Given the description of an element on the screen output the (x, y) to click on. 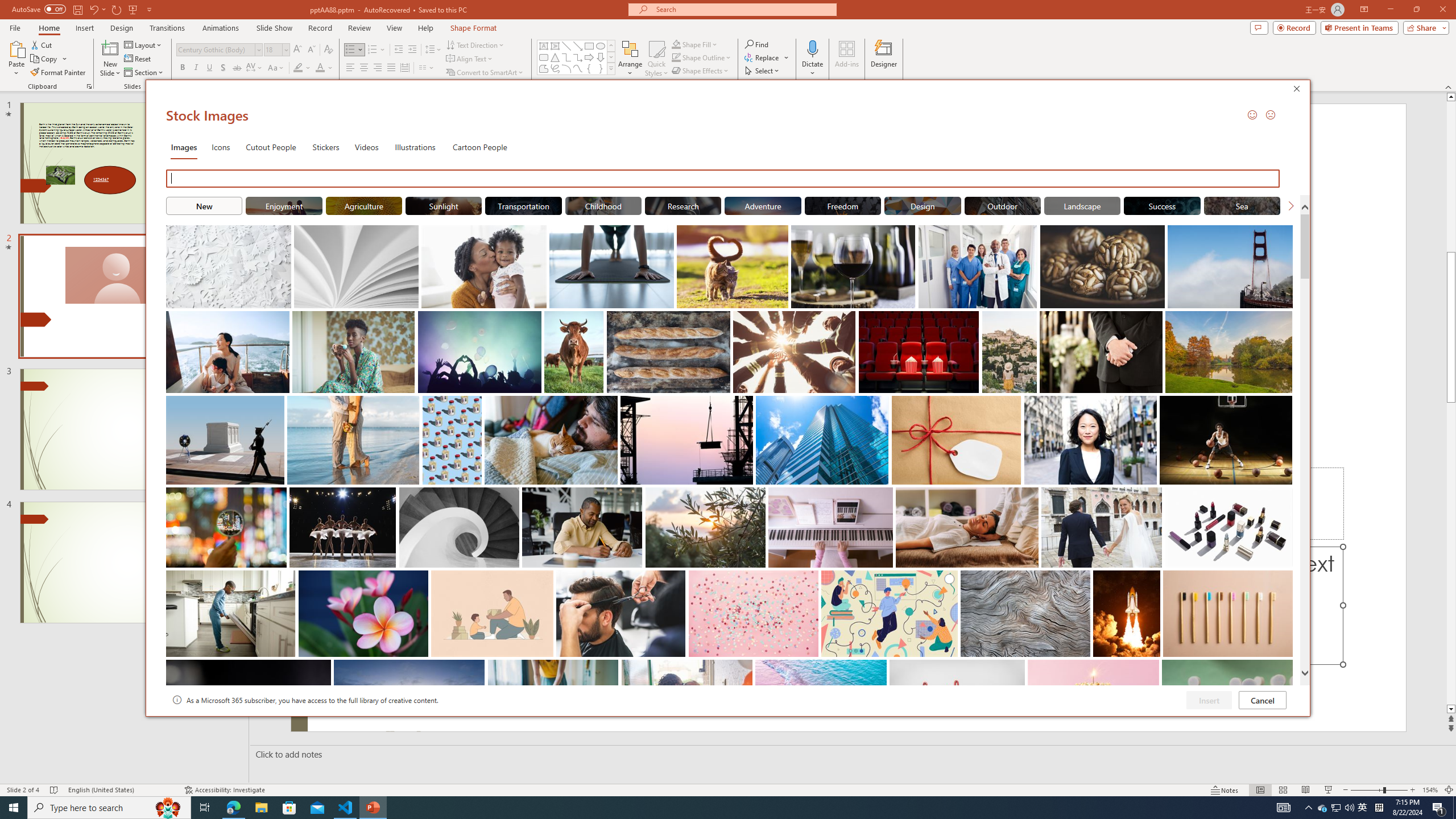
Next Search Suggestion (1290, 205)
Cancel (1263, 700)
Action Center, 1 new notification (1439, 807)
